Given the description of an element on the screen output the (x, y) to click on. 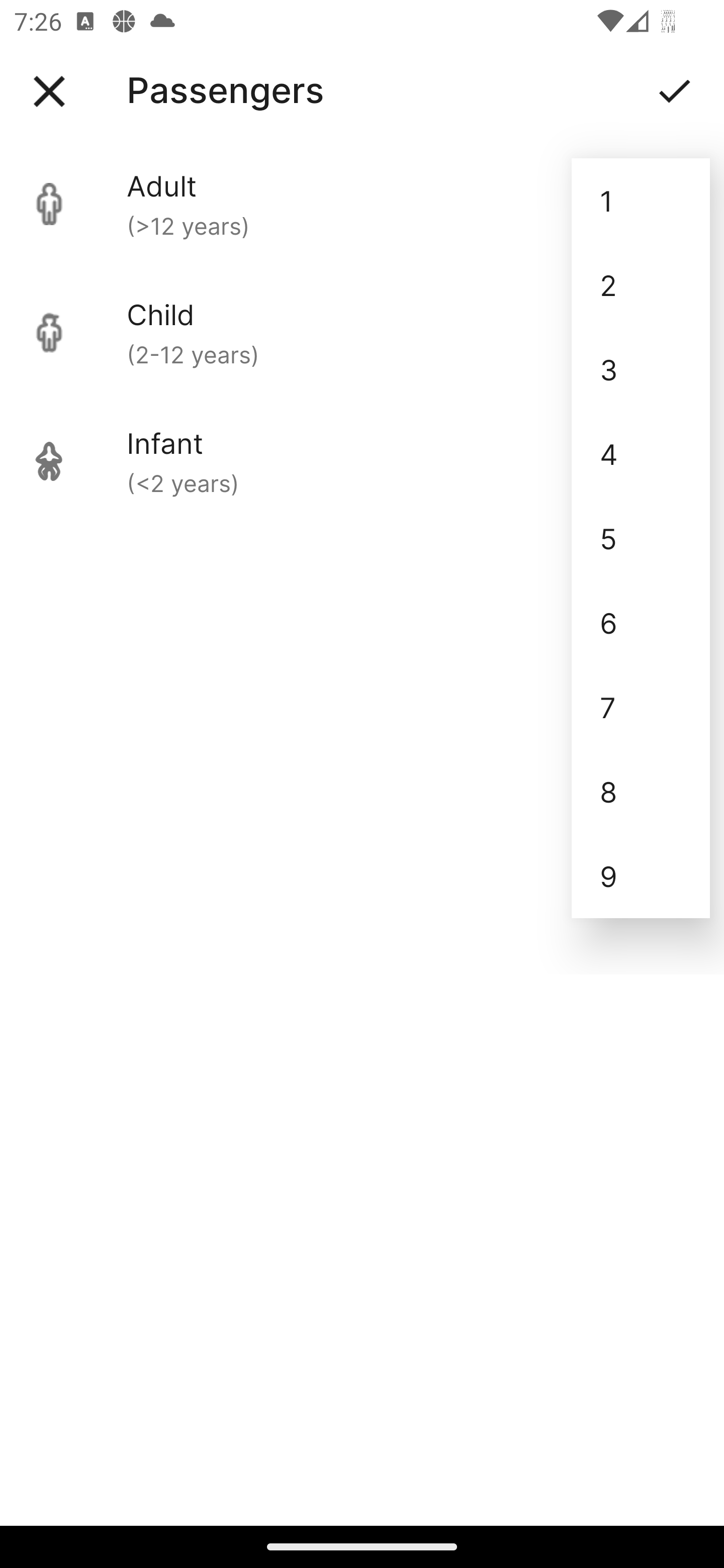
1 (640, 200)
2 (640, 285)
3 (640, 368)
4 (640, 452)
5 (640, 537)
6 (640, 622)
7 (640, 706)
8 (640, 791)
9 (640, 876)
